Given the description of an element on the screen output the (x, y) to click on. 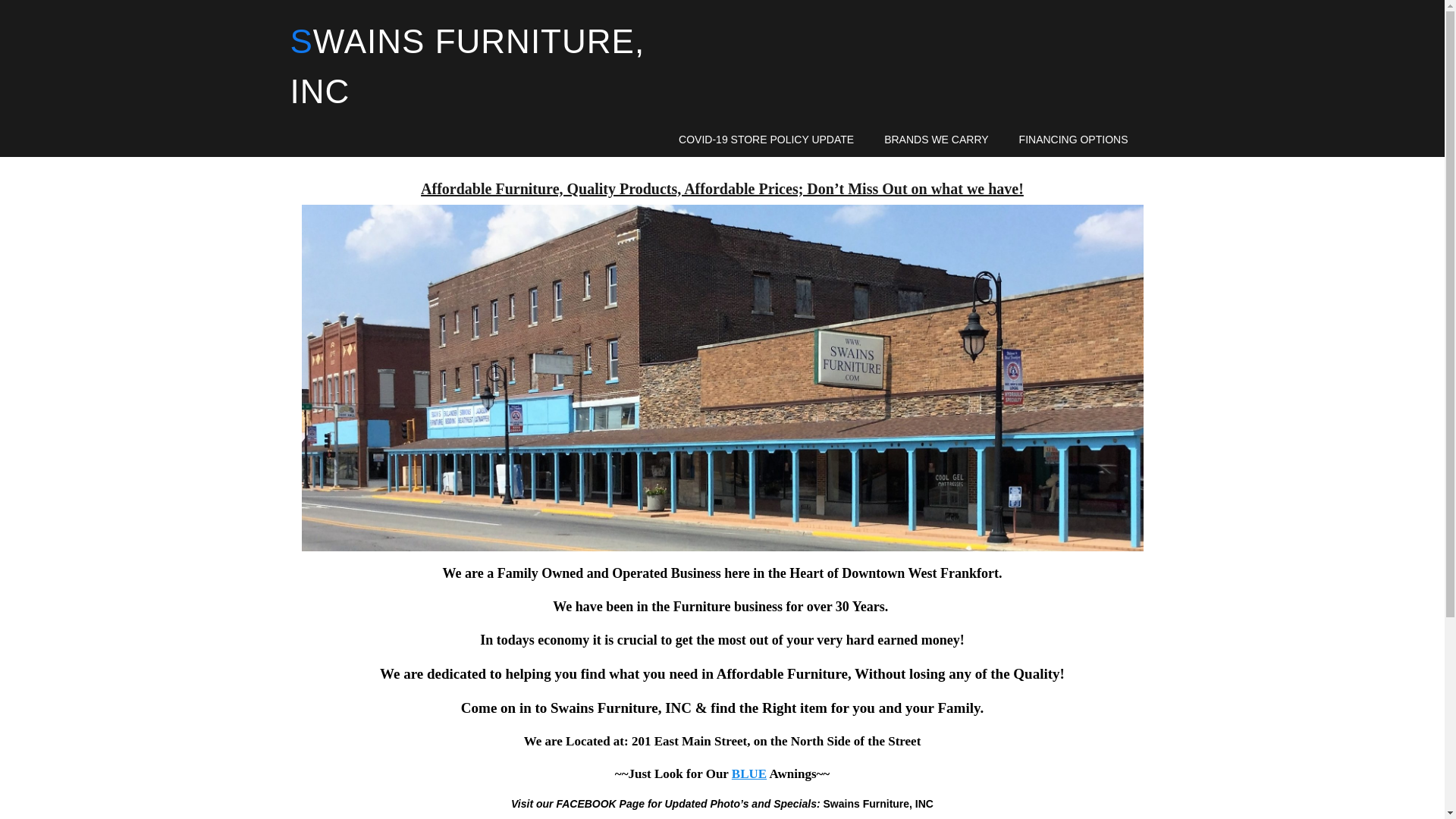
BRANDS WE CARRY (936, 140)
COVID-19 STORE POLICY UPDATE (766, 140)
FINANCING OPTIONS (1073, 140)
SWAINS FURNITURE, INC (467, 65)
